Given the description of an element on the screen output the (x, y) to click on. 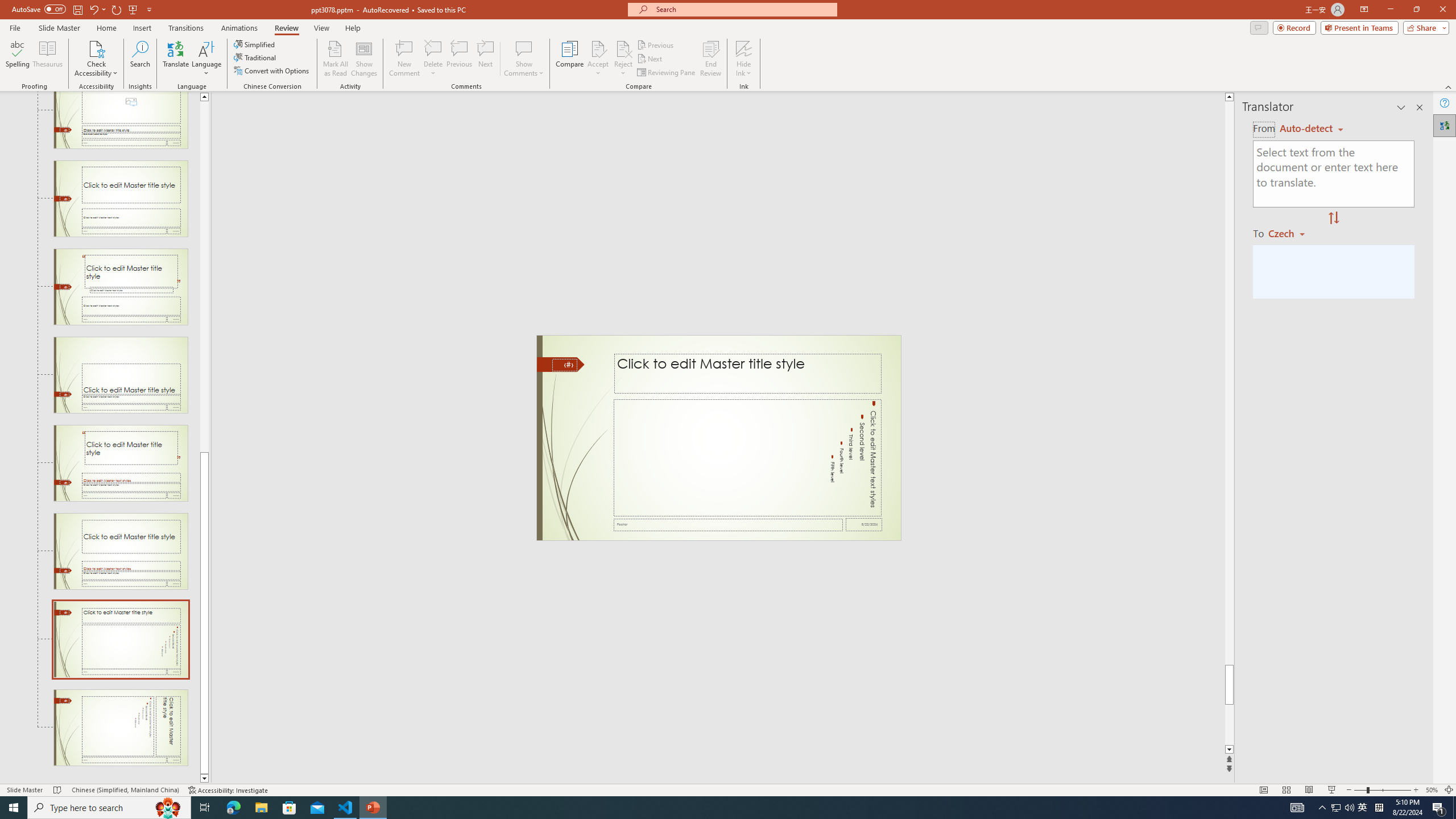
Slide Number (563, 364)
Footer (727, 524)
